Given the description of an element on the screen output the (x, y) to click on. 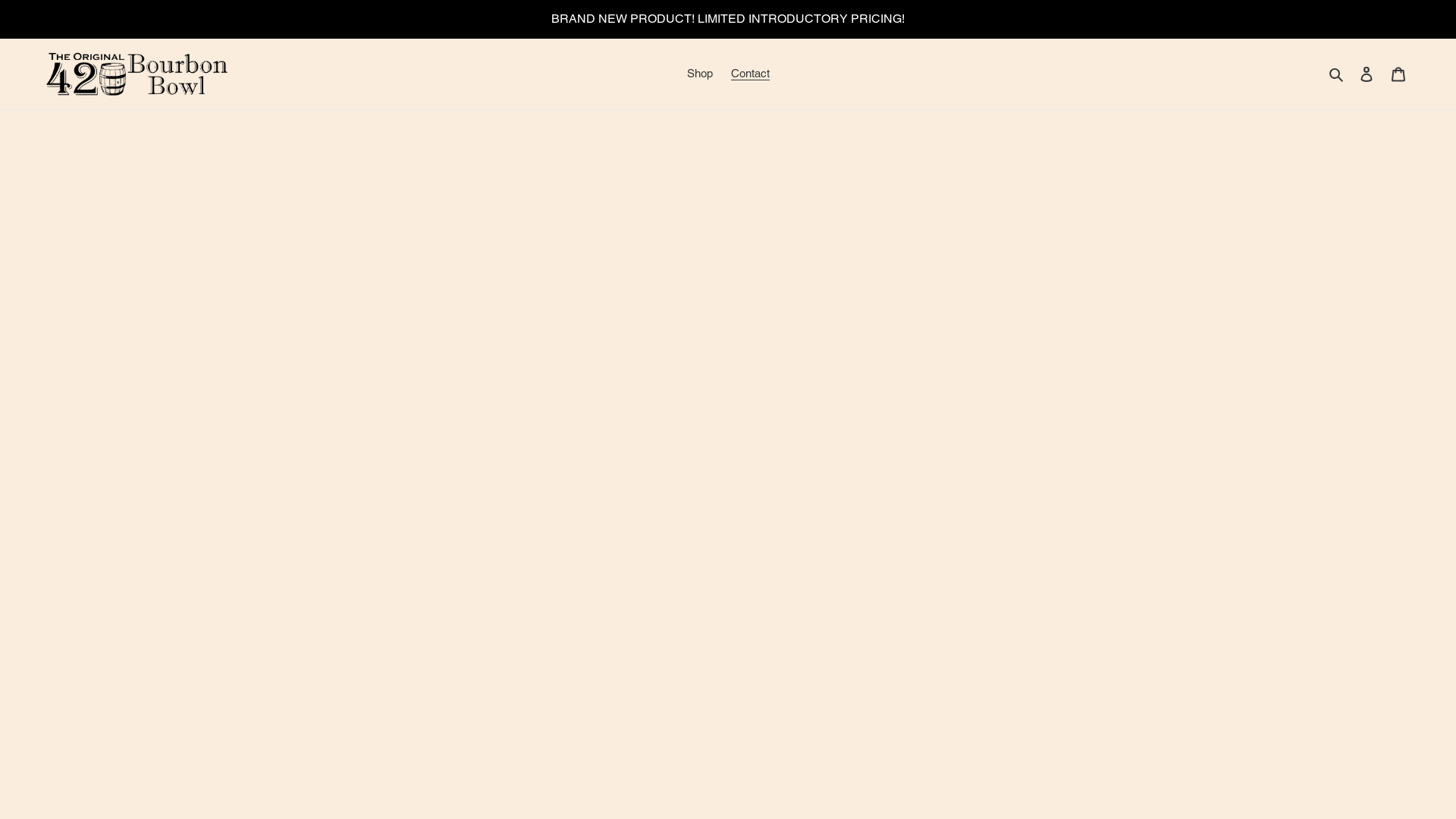
Contact Element type: text (750, 73)
Log in Element type: text (1366, 73)
Shop Element type: text (699, 73)
Search Element type: text (1337, 73)
Cart Element type: text (1398, 73)
BRAND NEW PRODUCT! LIMITED INTRODUCTORY PRICING! Element type: text (727, 18)
Send Element type: text (422, 286)
